Given the description of an element on the screen output the (x, y) to click on. 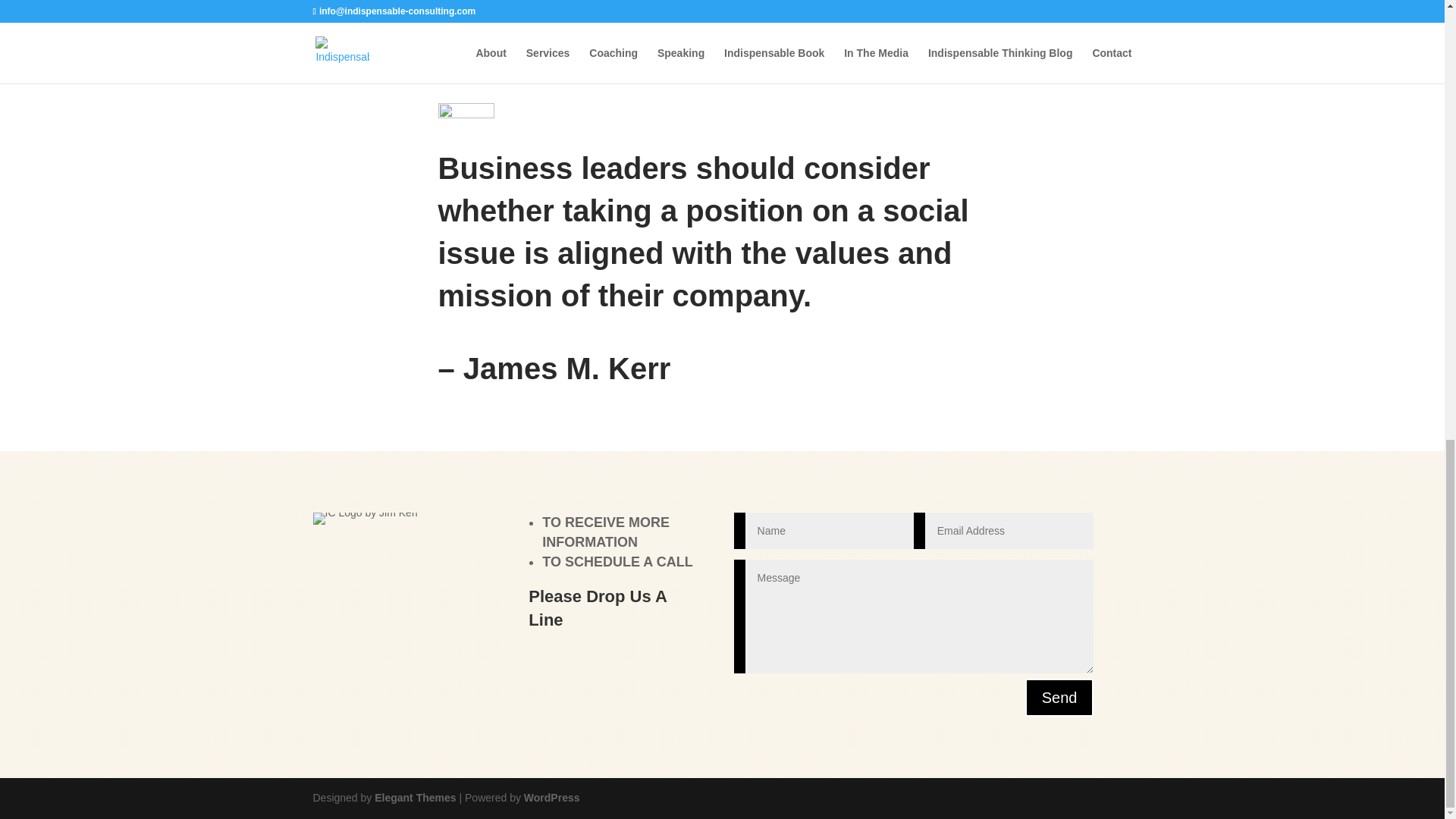
Send (1059, 697)
Premium WordPress Themes (414, 797)
WordPress (551, 797)
Elegant Themes (414, 797)
